Given the description of an element on the screen output the (x, y) to click on. 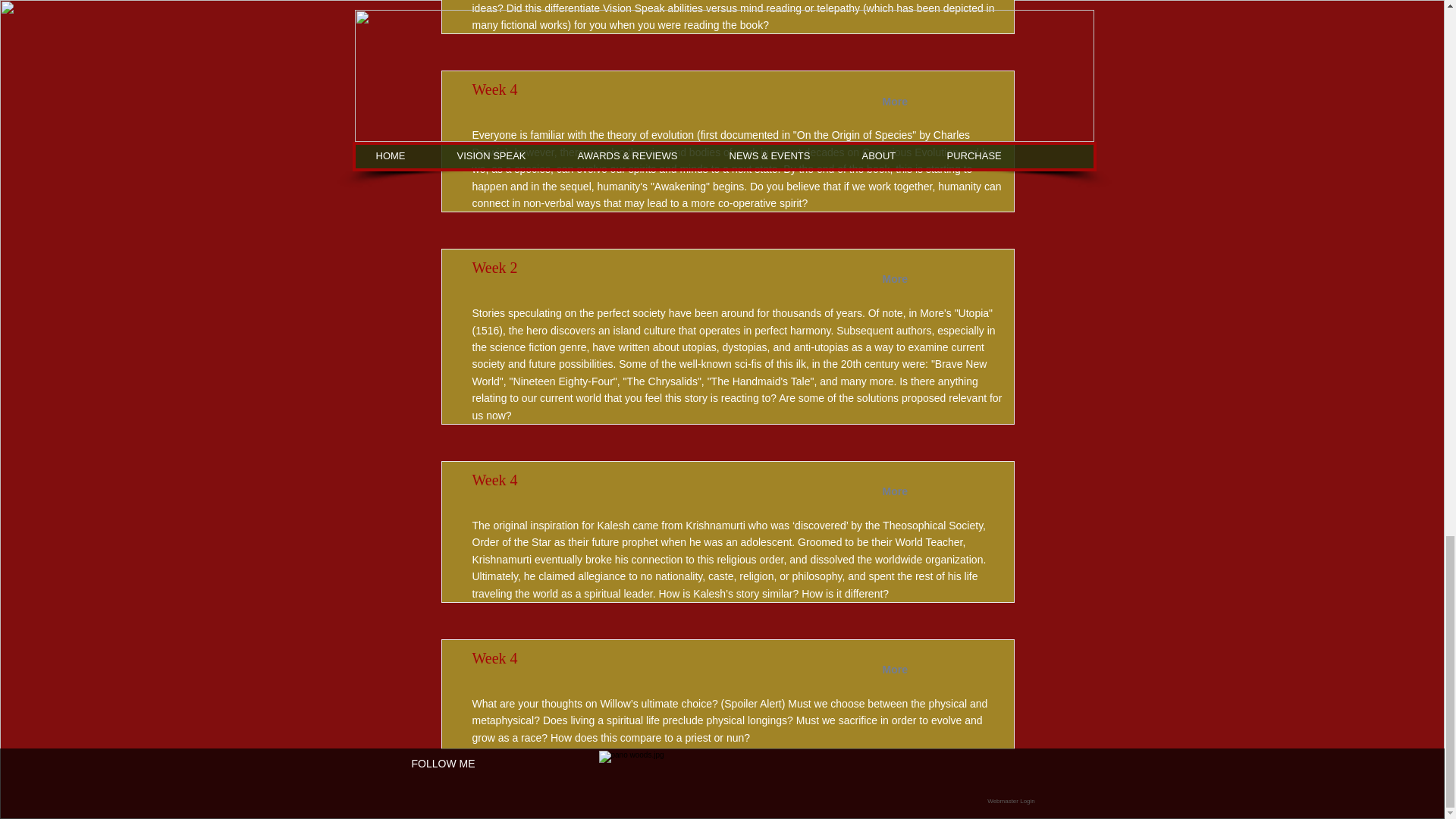
Webmaster Login (1010, 800)
